Given the description of an element on the screen output the (x, y) to click on. 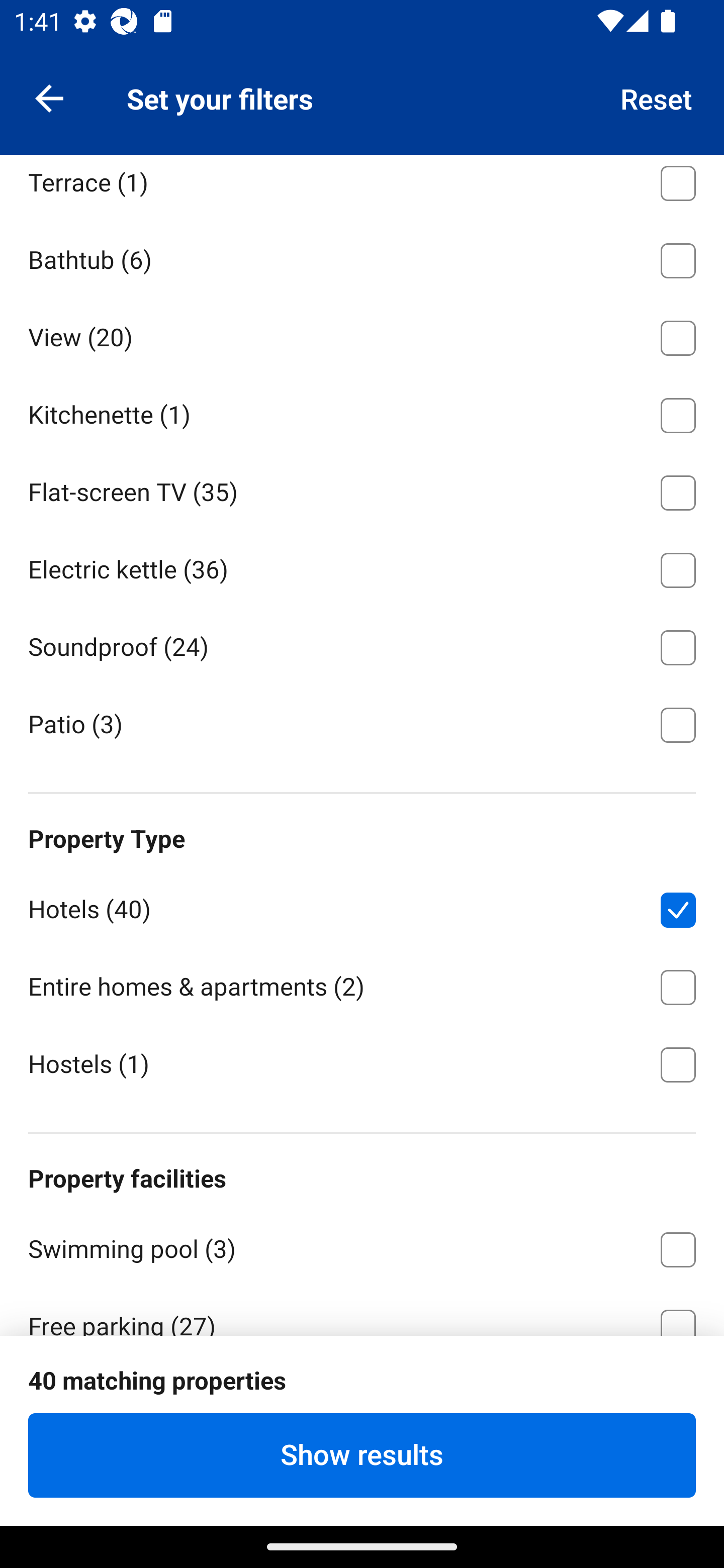
Navigate up (49, 97)
Reset (656, 97)
Washing machine ⁦(4) (361, 102)
Terrace ⁦(1) (361, 186)
Bathtub ⁦(6) (361, 256)
View ⁦(20) (361, 334)
Kitchenette ⁦(1) (361, 412)
Flat-screen TV ⁦(35) (361, 489)
Electric kettle ⁦(36) (361, 566)
Soundproof ⁦(24) (361, 644)
Patio ⁦(3) (361, 723)
Hotels ⁦(40) (361, 906)
Entire homes & apartments ⁦(2) (361, 983)
Hostels ⁦(1) (361, 1062)
Swimming pool ⁦(3) (361, 1246)
Free parking ⁦(27) (361, 1310)
Free WiFi ⁦(31) (361, 1400)
Show results (361, 1454)
